Given the description of an element on the screen output the (x, y) to click on. 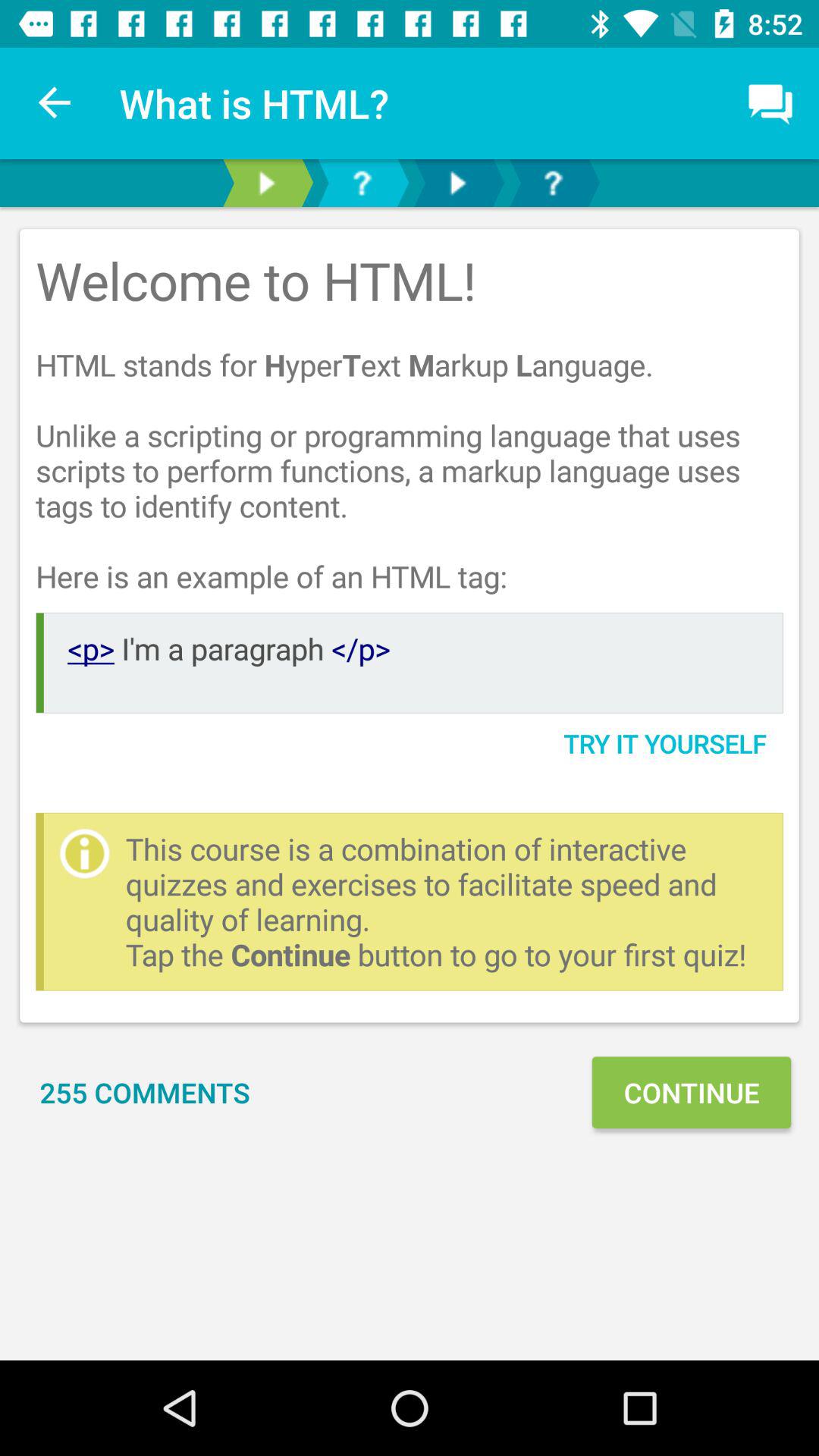
go forward (457, 183)
